Given the description of an element on the screen output the (x, y) to click on. 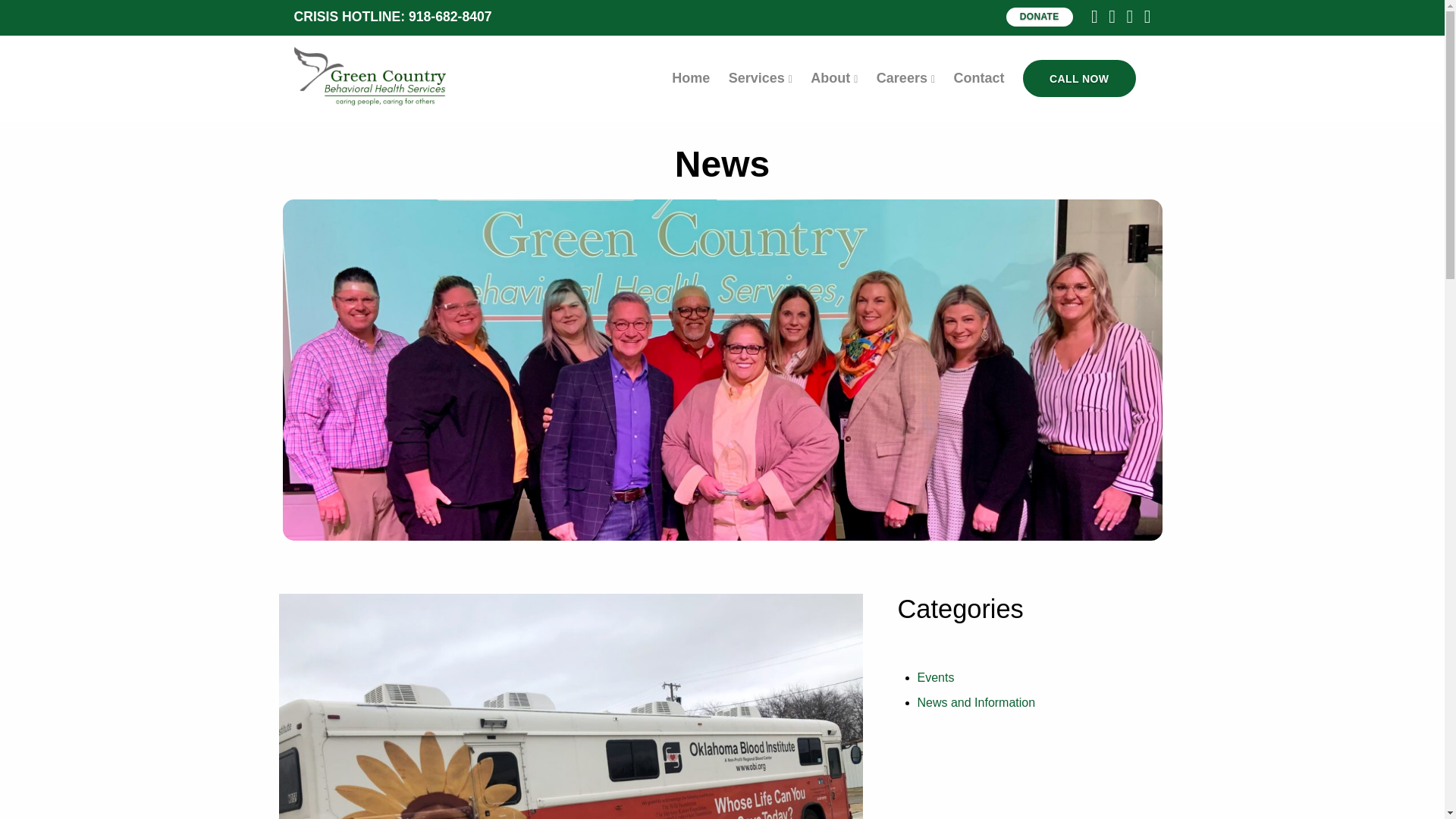
Careers (905, 77)
DONATE (1039, 16)
Services (760, 77)
918-682-8407 (450, 16)
CALL NOW (1079, 78)
Home (690, 77)
About (833, 77)
9186828407 (1079, 78)
Events (936, 676)
Contact (978, 77)
